Given the description of an element on the screen output the (x, y) to click on. 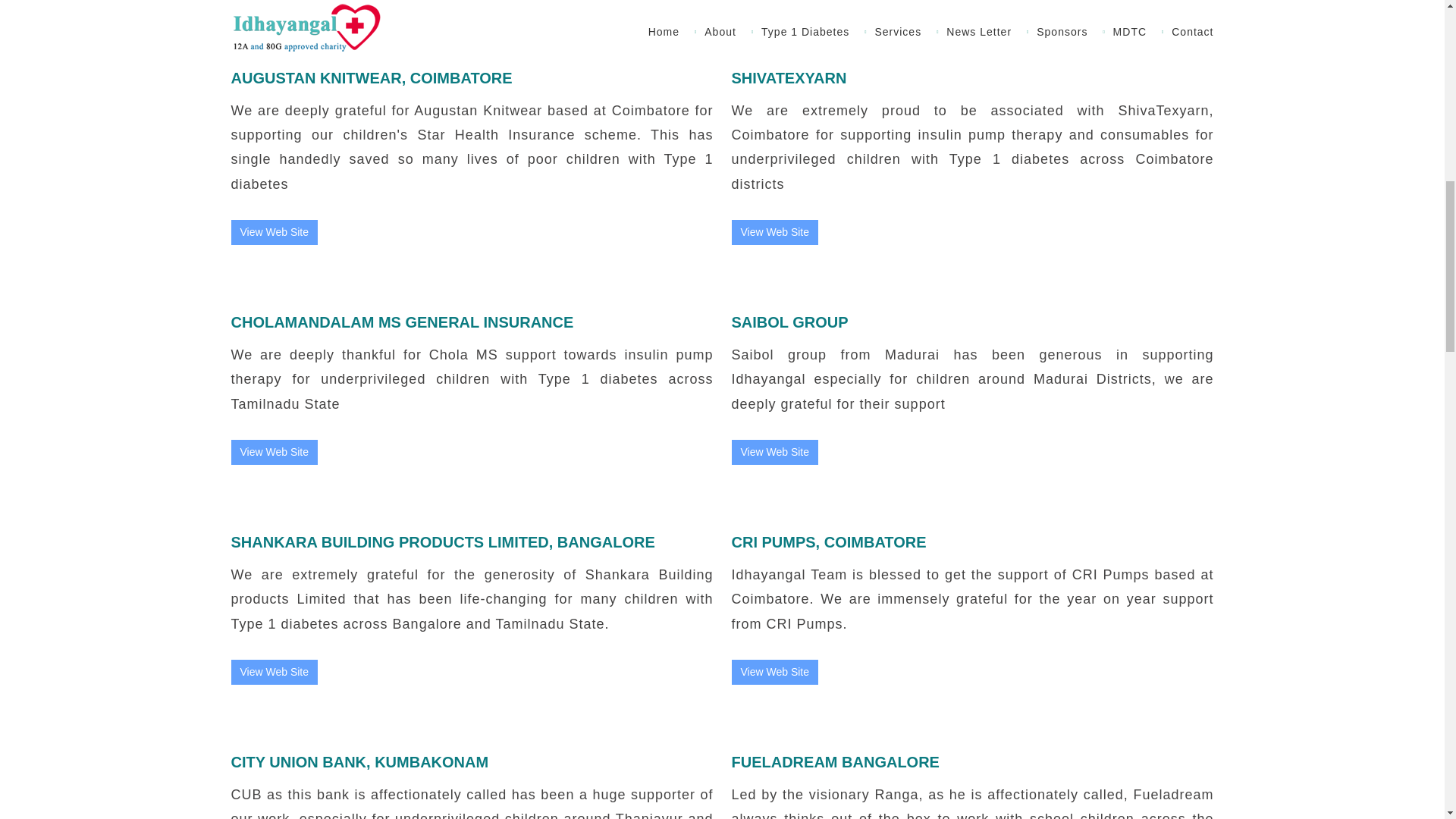
View Web Site (273, 672)
View Web Site (274, 232)
View Web Site (774, 671)
View Web Site (274, 671)
View Web Site (774, 232)
View Web Site (274, 451)
View Web Site (774, 452)
View Web Site (774, 672)
View Web Site (273, 232)
View Web Site (273, 452)
View Web Site (774, 232)
View Web Site (774, 451)
